Given the description of an element on the screen output the (x, y) to click on. 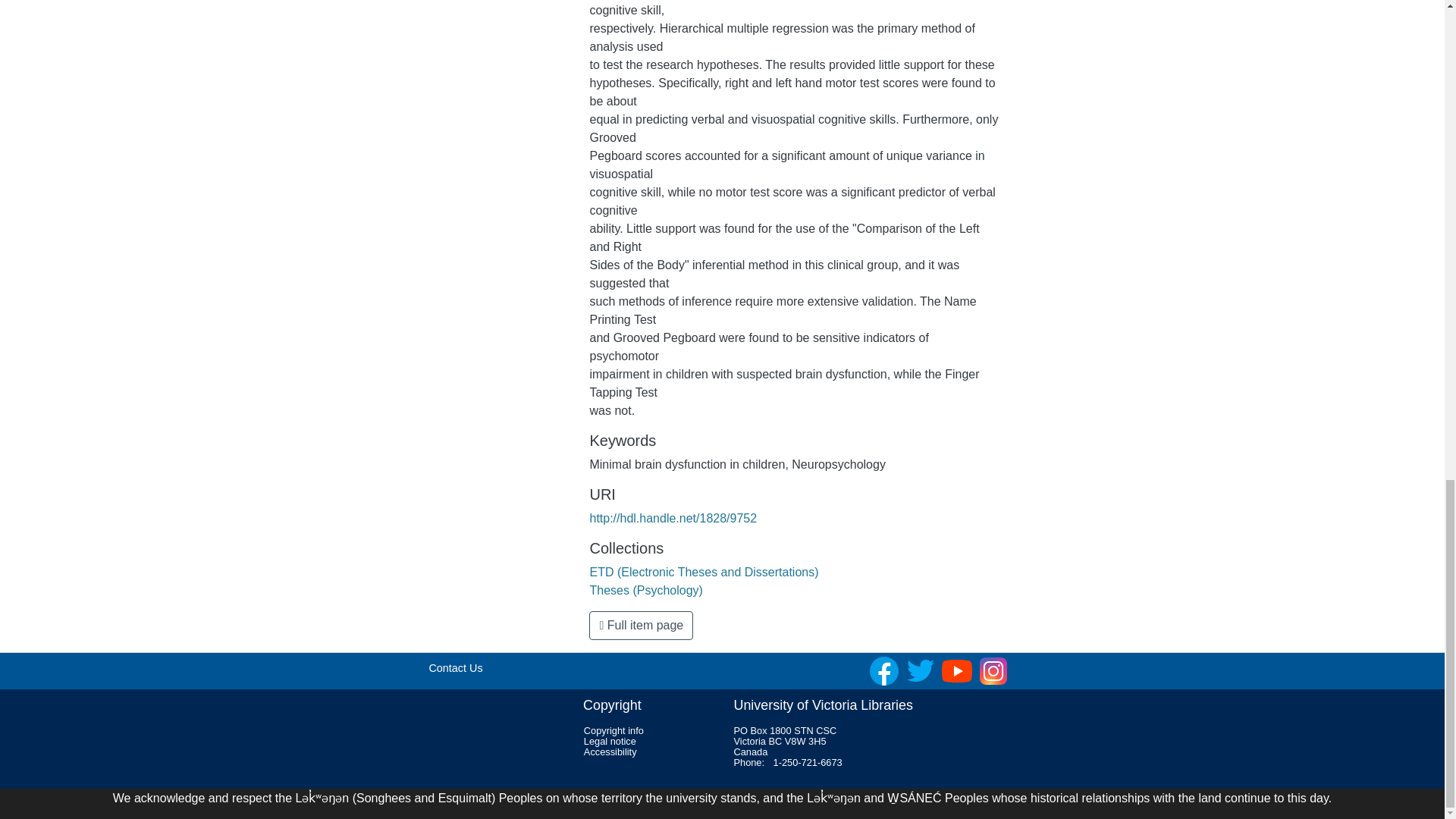
Contact Us (454, 667)
Full item page (641, 624)
